Given the description of an element on the screen output the (x, y) to click on. 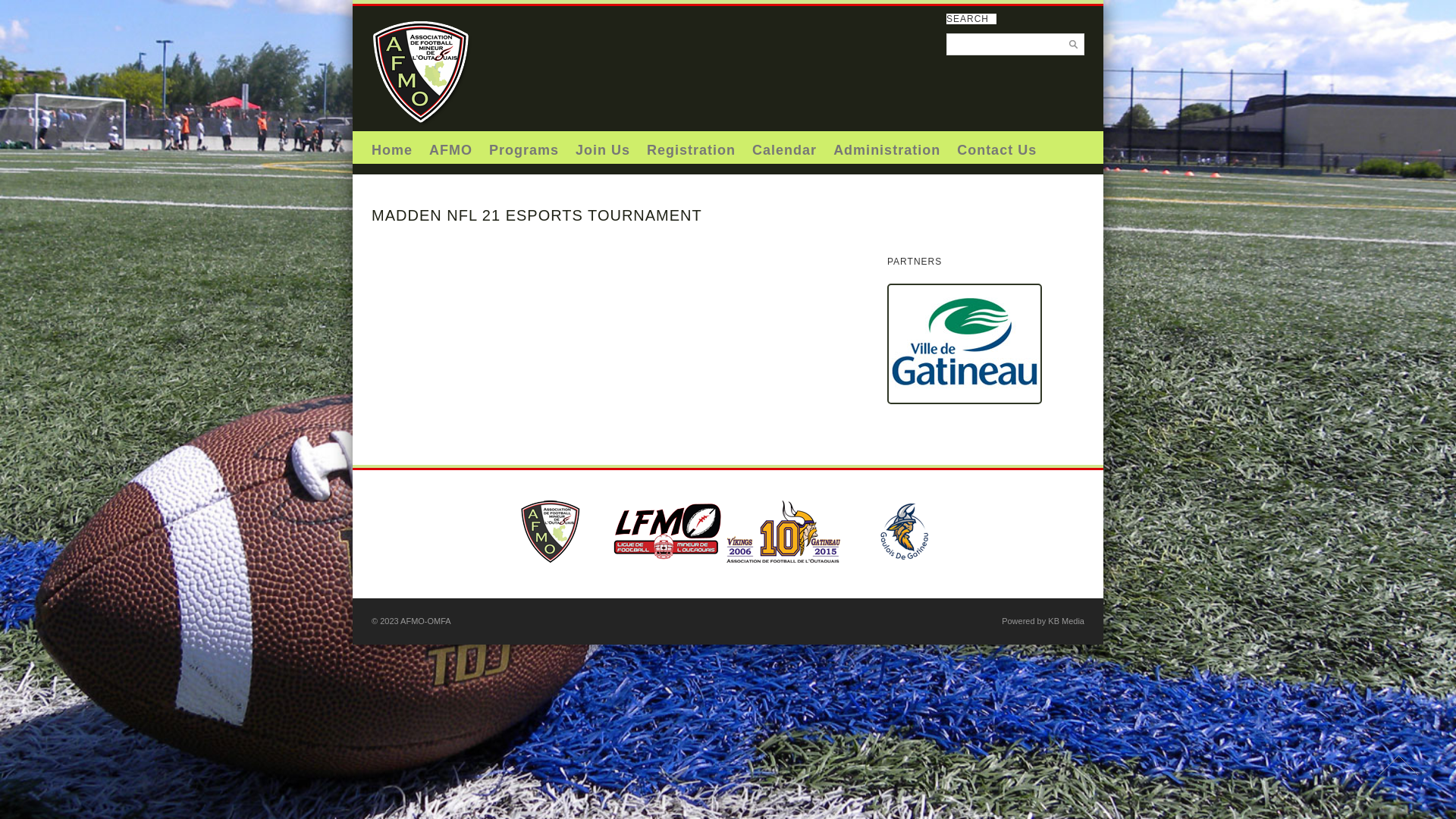
AFMO-OMFA Element type: hover (424, 128)
Join Us Element type: text (602, 147)
Administration Element type: text (886, 147)
AFMO Element type: text (450, 147)
AFMO-OMFA Element type: text (425, 620)
Visiter - Les Vikings de Gatineau Element type: hover (783, 574)
Calendar Element type: text (784, 147)
Programs Element type: text (523, 147)
Home Element type: text (391, 147)
Contact Us Element type: text (996, 147)
KB Media Element type: text (1066, 620)
Registration Element type: text (690, 147)
Search Element type: text (26, 10)
